Given the description of an element on the screen output the (x, y) to click on. 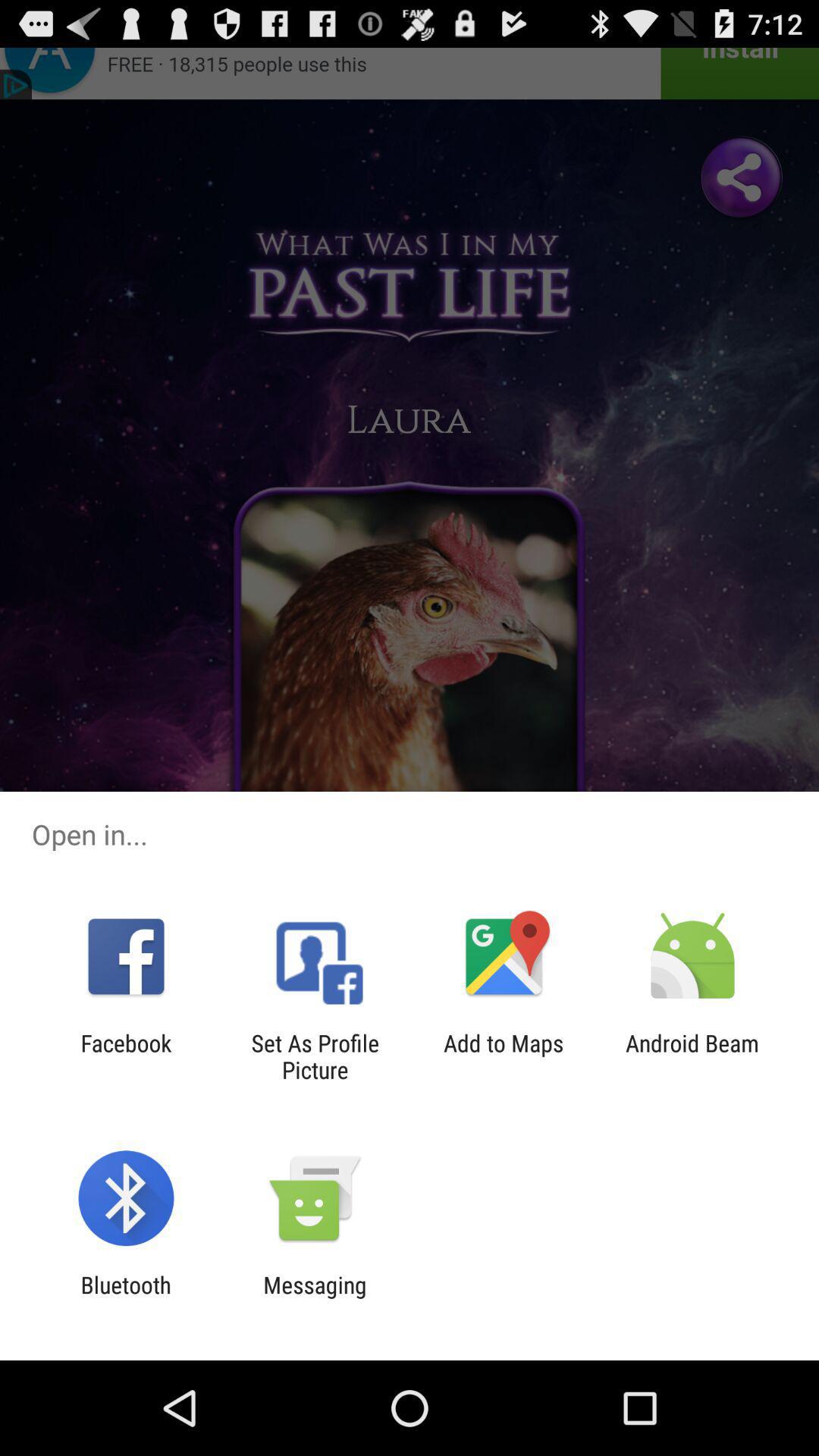
tap set as profile item (314, 1056)
